Given the description of an element on the screen output the (x, y) to click on. 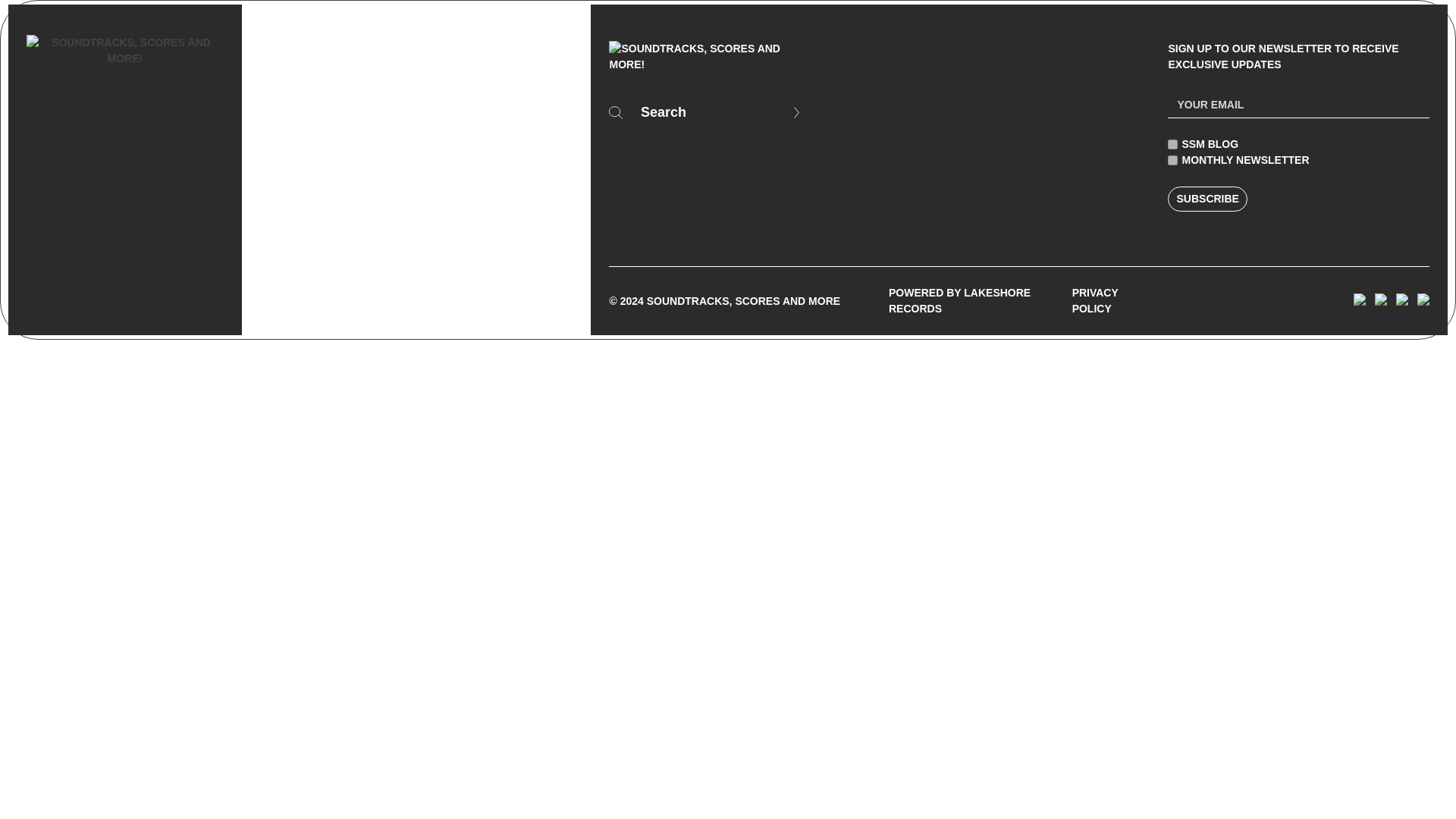
SUBSCRIBE (1206, 198)
1347002 (1172, 160)
1184877 (1172, 144)
POWERED BY LAKESHORE RECORDS (975, 300)
PRIVACY POLICY (1110, 300)
